Given the description of an element on the screen output the (x, y) to click on. 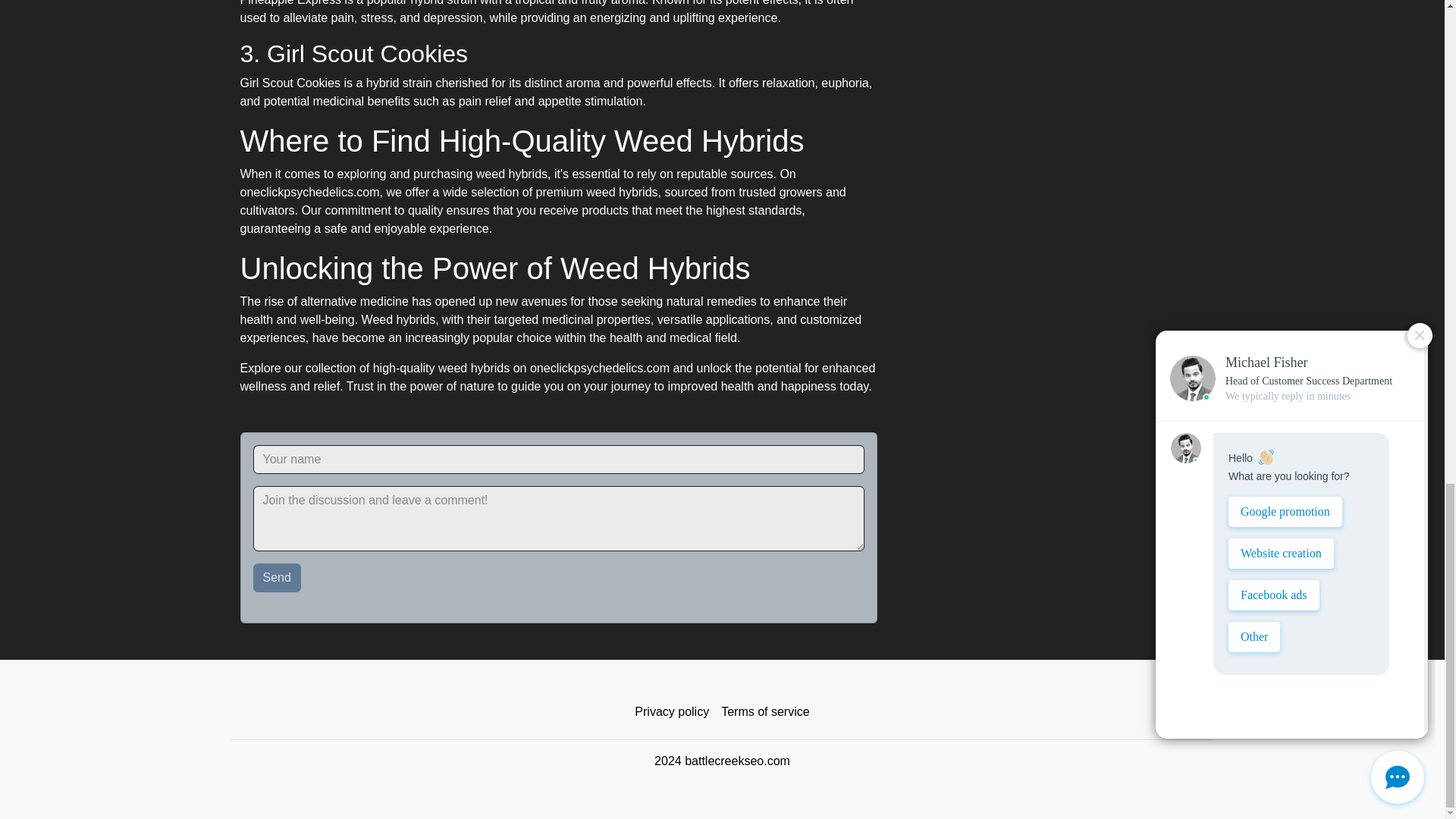
Terms of service (764, 711)
Send (277, 577)
Privacy policy (671, 711)
Send (277, 577)
